Given the description of an element on the screen output the (x, y) to click on. 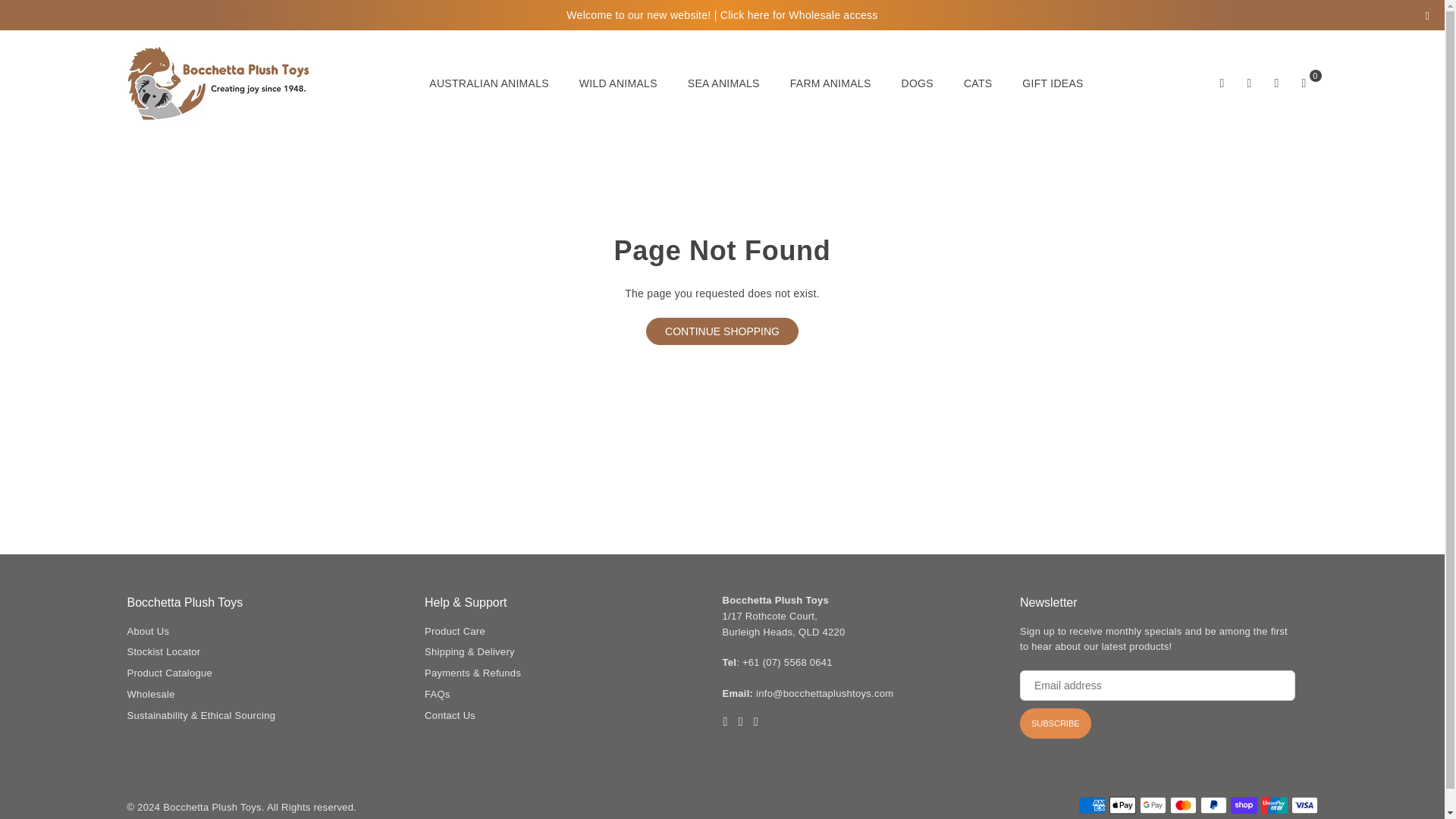
AUSTRALIAN ANIMALS (488, 83)
WILD ANIMALS (617, 83)
Bocchetta Plush Toys on Instagram (755, 721)
Shop Pay (1243, 805)
SEA ANIMALS (724, 83)
Bocchetta Plush Toys on Twitter (740, 721)
Bocchetta Plush Toys on Facebook (724, 721)
American Express (1091, 805)
Google Pay (1152, 805)
Union Pay (1273, 805)
Wishlist (1276, 83)
Settings (1249, 83)
PayPal (1212, 805)
Apple Pay (1121, 805)
Mastercard (1182, 805)
